Given the description of an element on the screen output the (x, y) to click on. 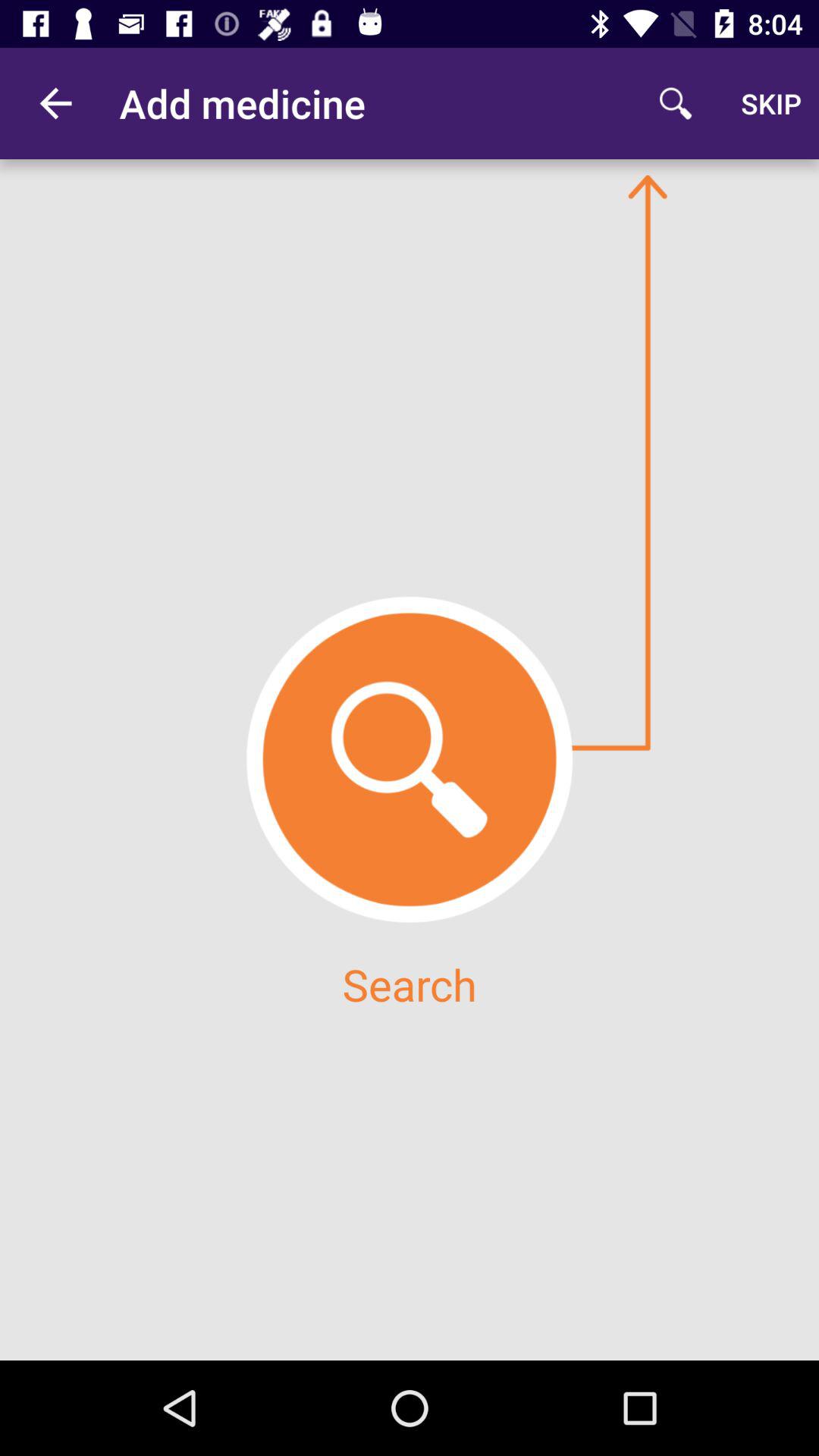
open icon to the right of add medicine (675, 103)
